Given the description of an element on the screen output the (x, y) to click on. 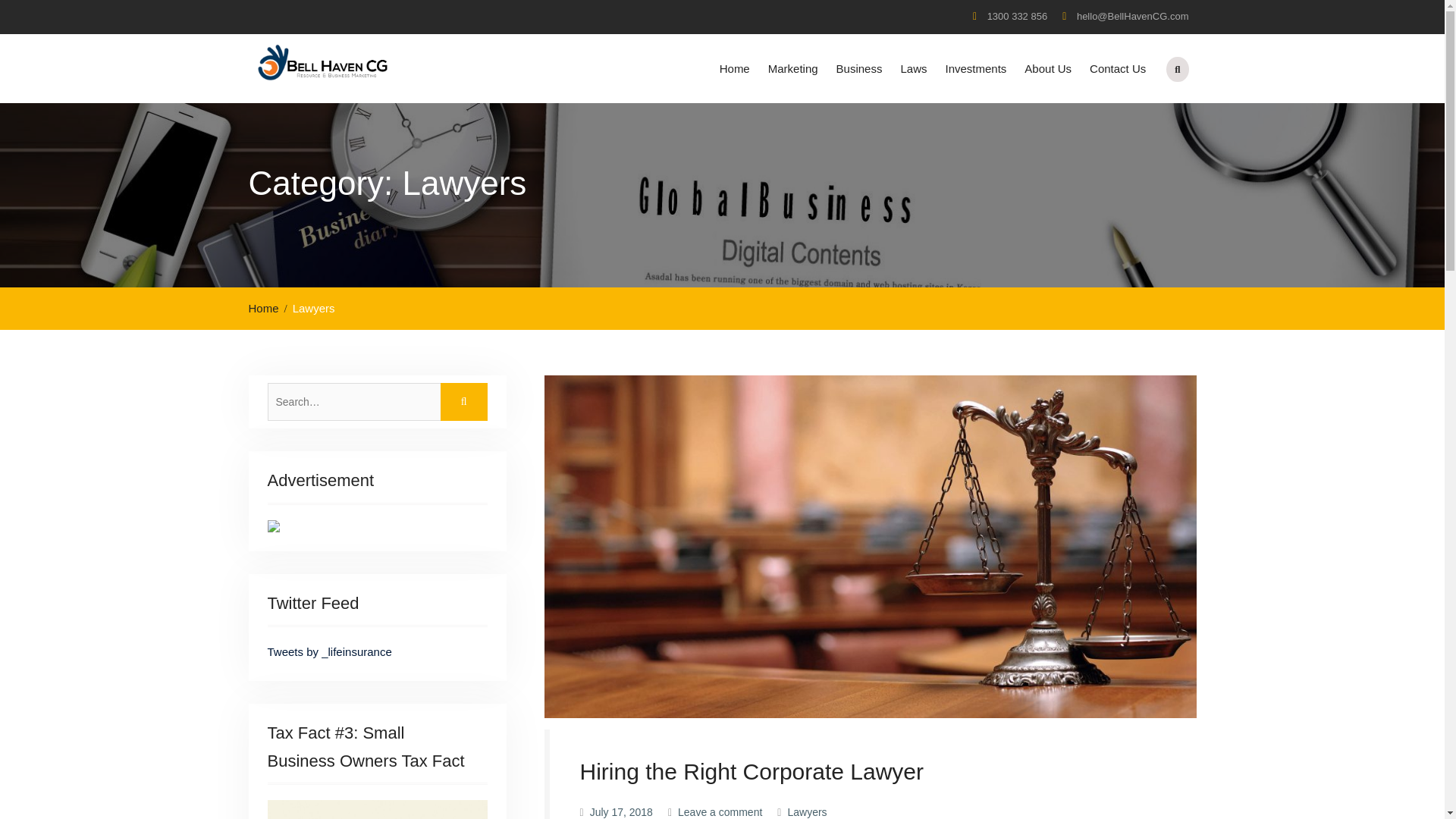
Leave a comment (719, 811)
Search for: (376, 401)
Laws (913, 67)
Investments (975, 67)
Contact Us (1117, 67)
Business (859, 67)
Lawyers (807, 811)
1300 332 856 (1017, 16)
July 17, 2018 (620, 811)
About Us (1047, 67)
Home (267, 308)
Hiring the Right Corporate Lawyer (751, 771)
Marketing (792, 67)
Home (734, 67)
